Given the description of an element on the screen output the (x, y) to click on. 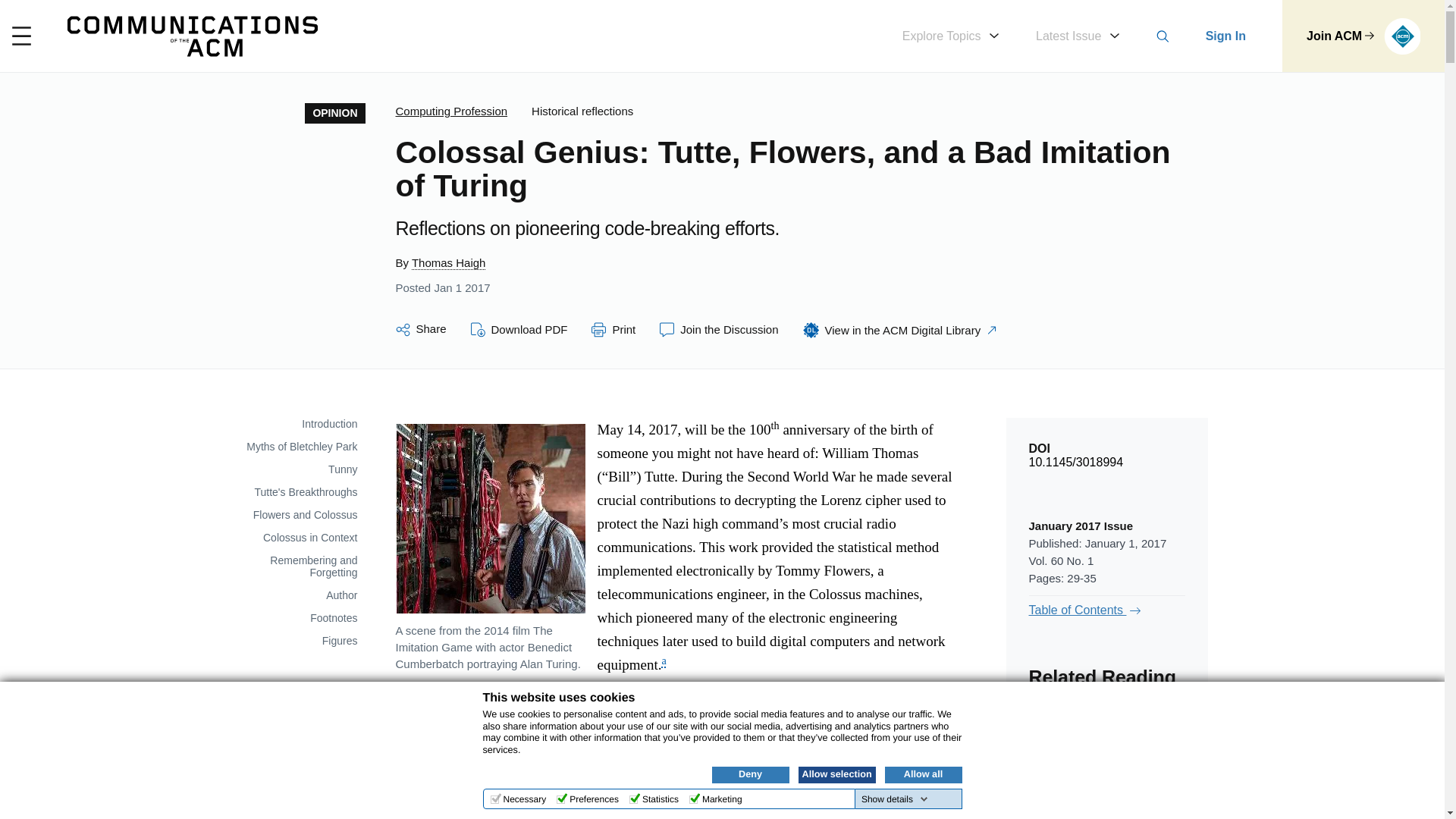
Allow selection (836, 774)
Allow all (921, 774)
Deny (750, 774)
Show details (895, 799)
